Given the description of an element on the screen output the (x, y) to click on. 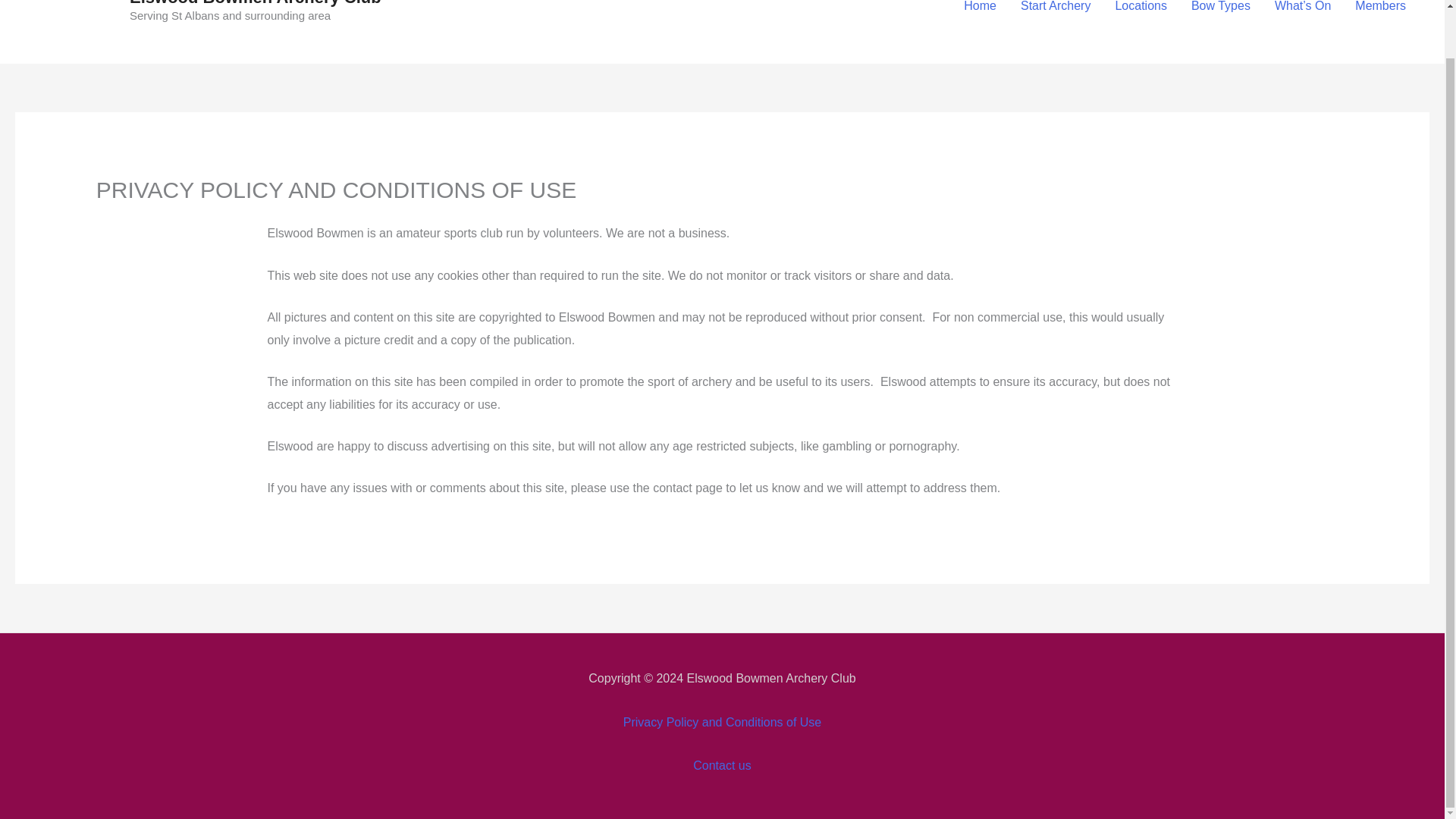
Locations (1140, 16)
Bow Types (1220, 16)
Home (980, 16)
Contact us (722, 765)
Privacy Policy and Conditions of Use (722, 721)
Start Archery (1055, 16)
Elswood Bowmen Archery Club (255, 3)
Members (1380, 16)
